Given the description of an element on the screen output the (x, y) to click on. 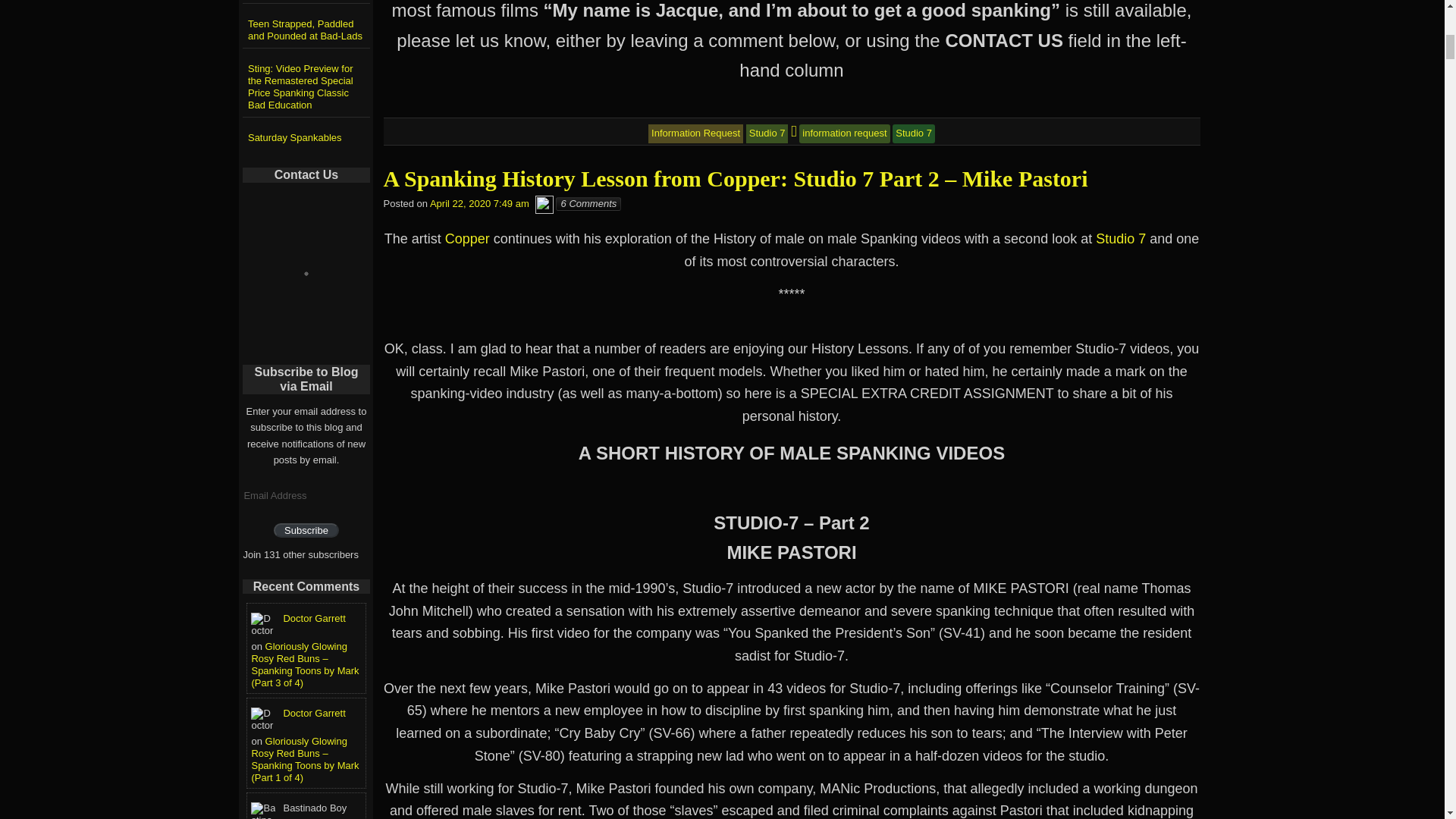
Ward (544, 203)
Studio 7 (767, 132)
April 22, 2020 7:49 am (479, 203)
Information Request (694, 132)
Copper (467, 238)
Studio 7 (1120, 238)
Studio 7 (913, 132)
information request (844, 132)
6 Comments (588, 203)
